Given the description of an element on the screen output the (x, y) to click on. 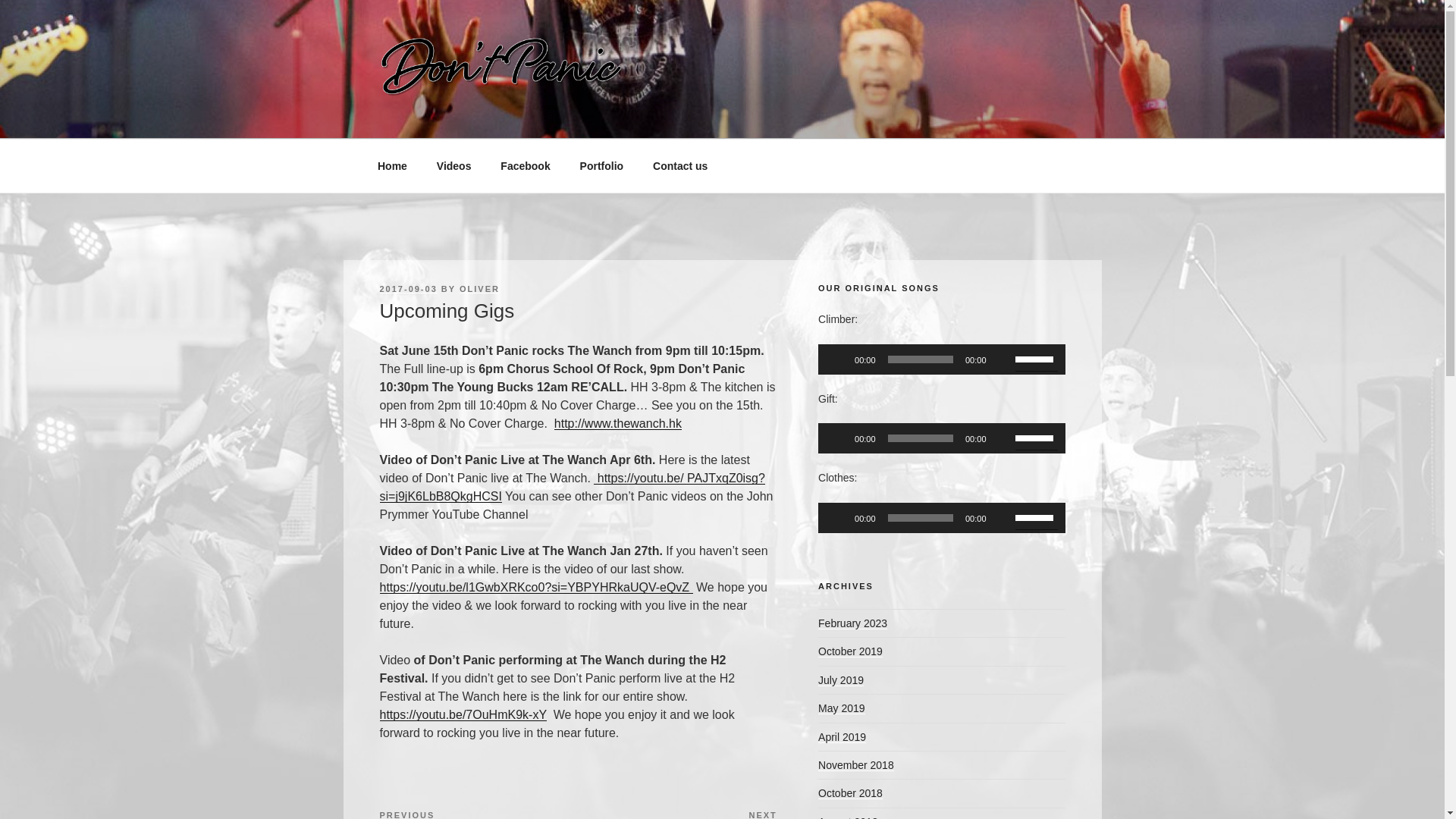
May 2019 (841, 707)
Mute (1002, 517)
October 2018 (850, 793)
August 2018 (847, 817)
2017-09-03 (407, 288)
Play (837, 359)
Portfolio (601, 165)
Play (837, 517)
Contact us (680, 165)
Mute (1002, 437)
